Given the description of an element on the screen output the (x, y) to click on. 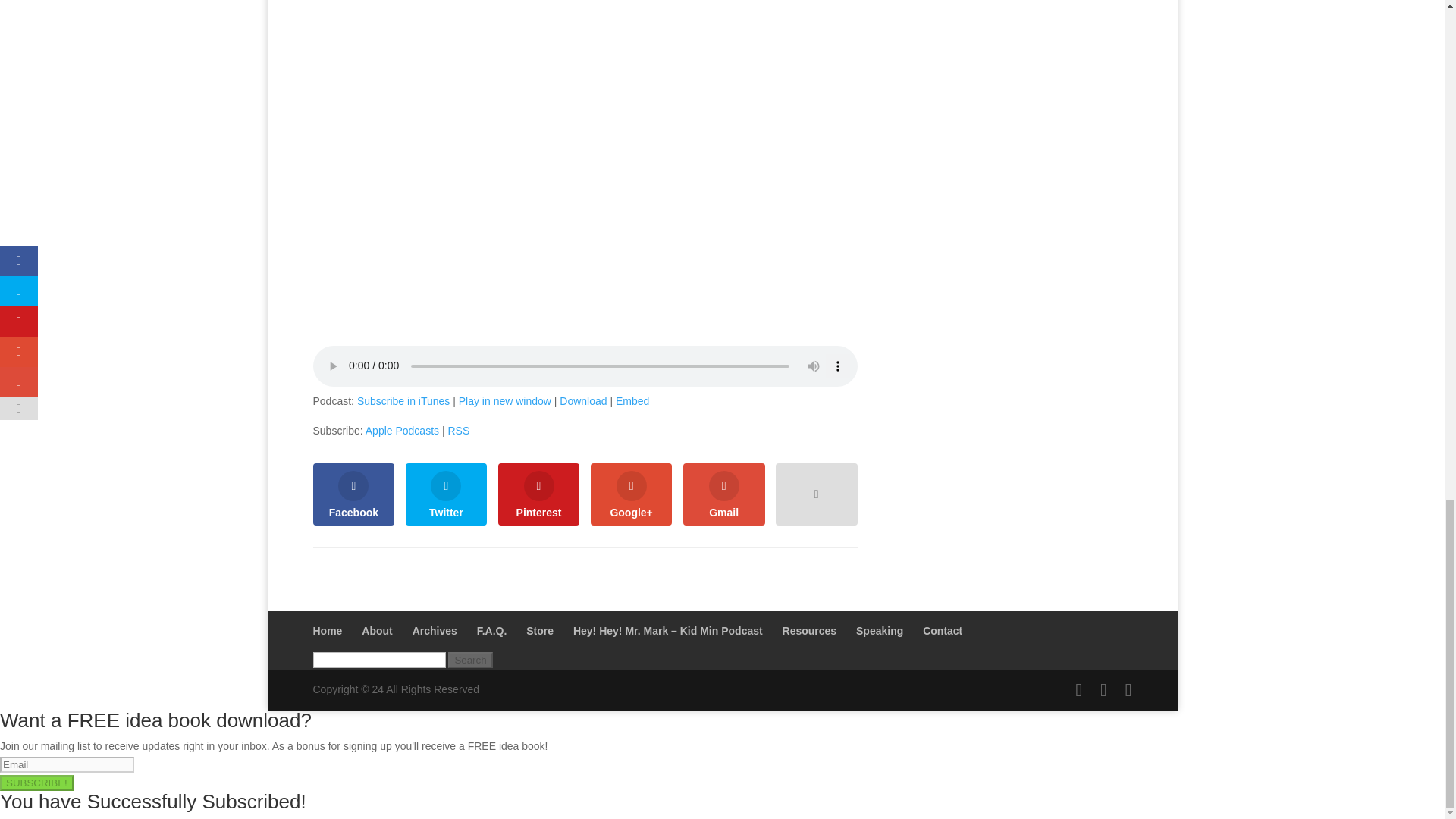
Facebook (353, 494)
Pinterest (538, 494)
Play in new window (504, 400)
Search (470, 659)
Download (583, 400)
Embed (632, 400)
Subscribe via RSS (457, 430)
Gmail (723, 494)
Twitter (446, 494)
Download (583, 400)
Subscribe on Apple Podcasts (402, 430)
Apple Podcasts (402, 430)
Embed (632, 400)
Play in new window (504, 400)
RSS (457, 430)
